Given the description of an element on the screen output the (x, y) to click on. 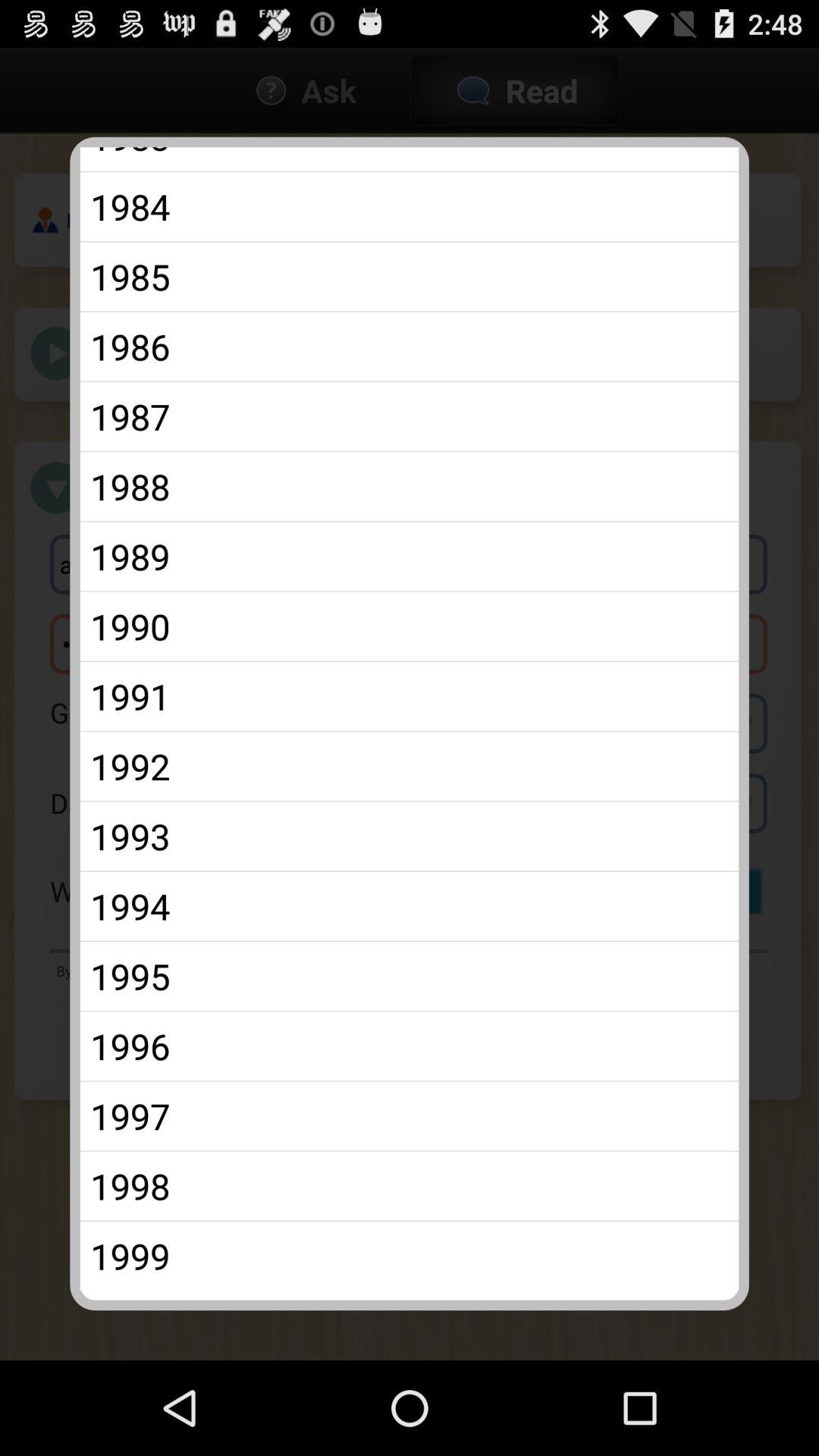
flip to the 1999 item (409, 1255)
